Given the description of an element on the screen output the (x, y) to click on. 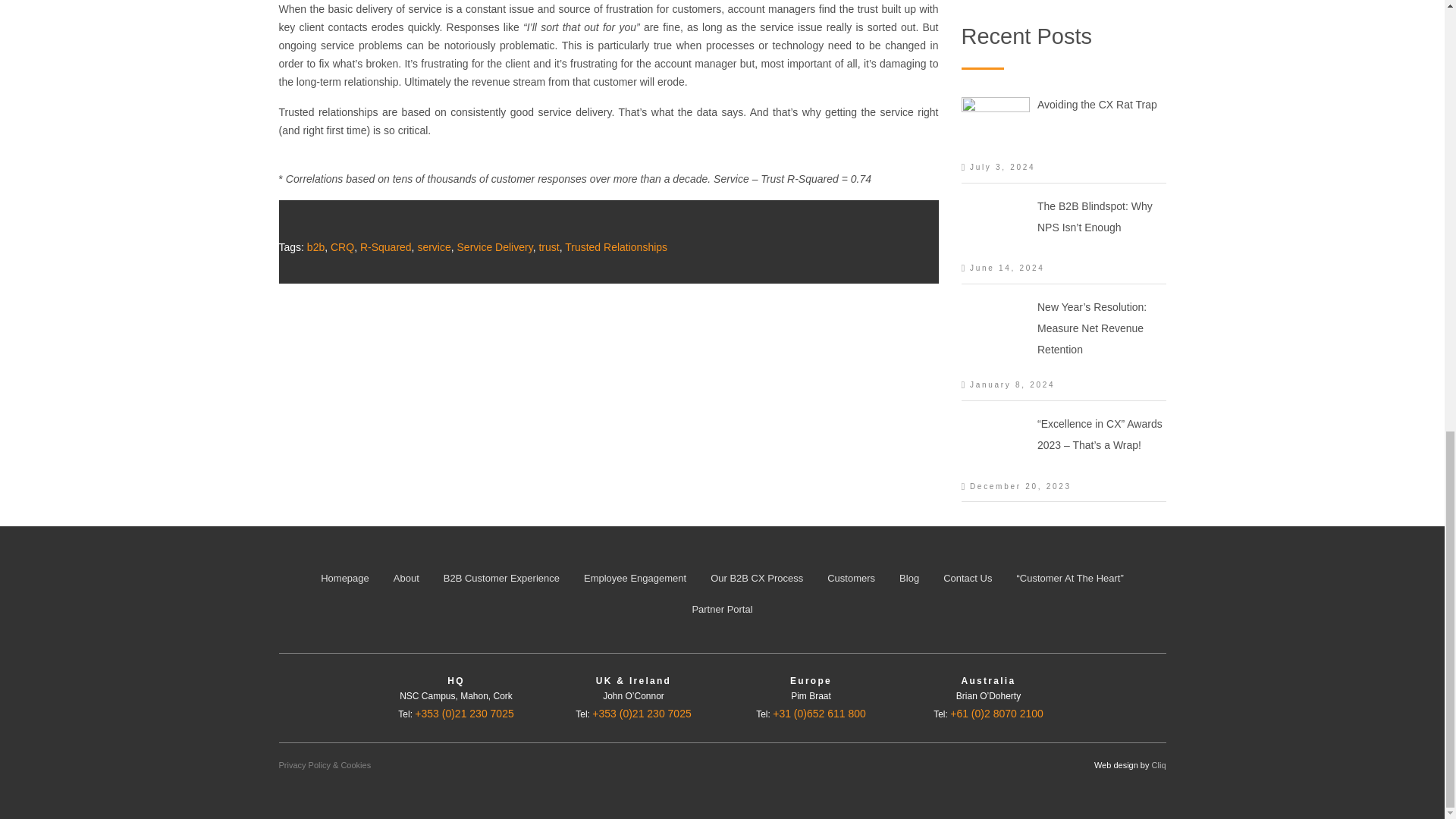
Service Delivery (494, 246)
Trusted Relationships (615, 246)
b2b (315, 246)
trust (548, 246)
service (432, 246)
CRQ (341, 246)
R-Squared (385, 246)
partner-login (721, 609)
